Given the description of an element on the screen output the (x, y) to click on. 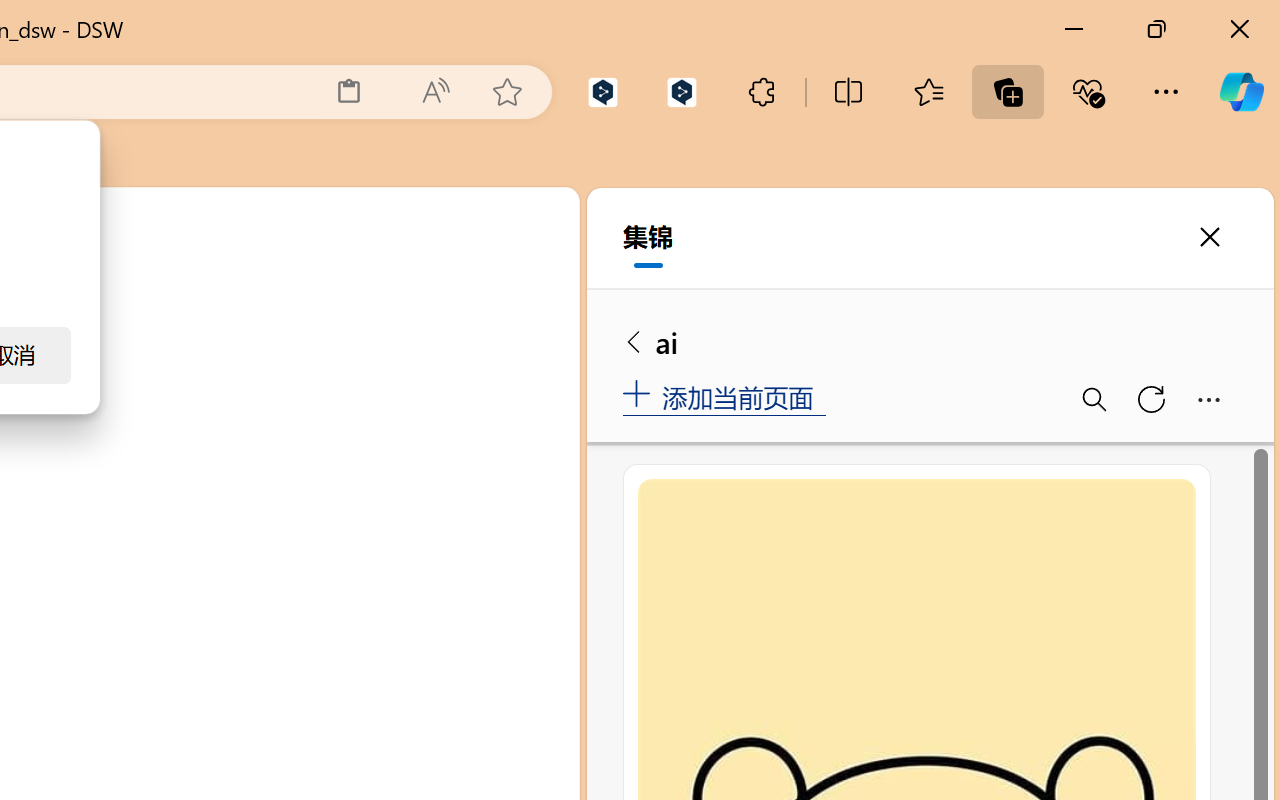
Customize Layout... (553, 294)
Title actions (484, 294)
Terminal 1 bash (470, 409)
Restore Panel Size (488, 357)
Class: actions-container (516, 358)
Views and More Actions... (442, 357)
Terminal 3 bash (470, 488)
Toggle Primary Side Bar (Ctrl+B) (413, 294)
